Given the description of an element on the screen output the (x, y) to click on. 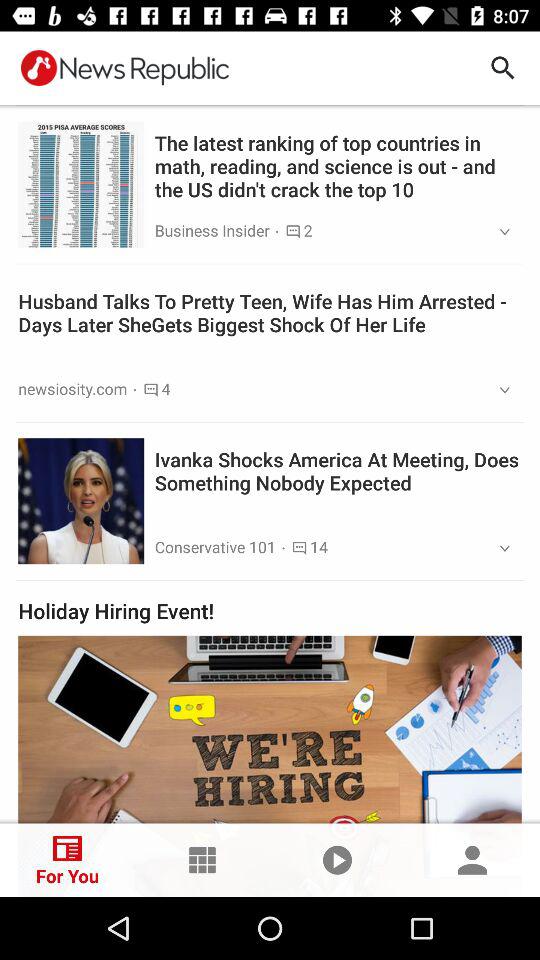
news  republic (124, 68)
click on the play icon at the bottom of the page shown before human tag (337, 859)
the button shown right to 14 (498, 548)
tap on the second image from the top of the page (80, 500)
